Given the description of an element on the screen output the (x, y) to click on. 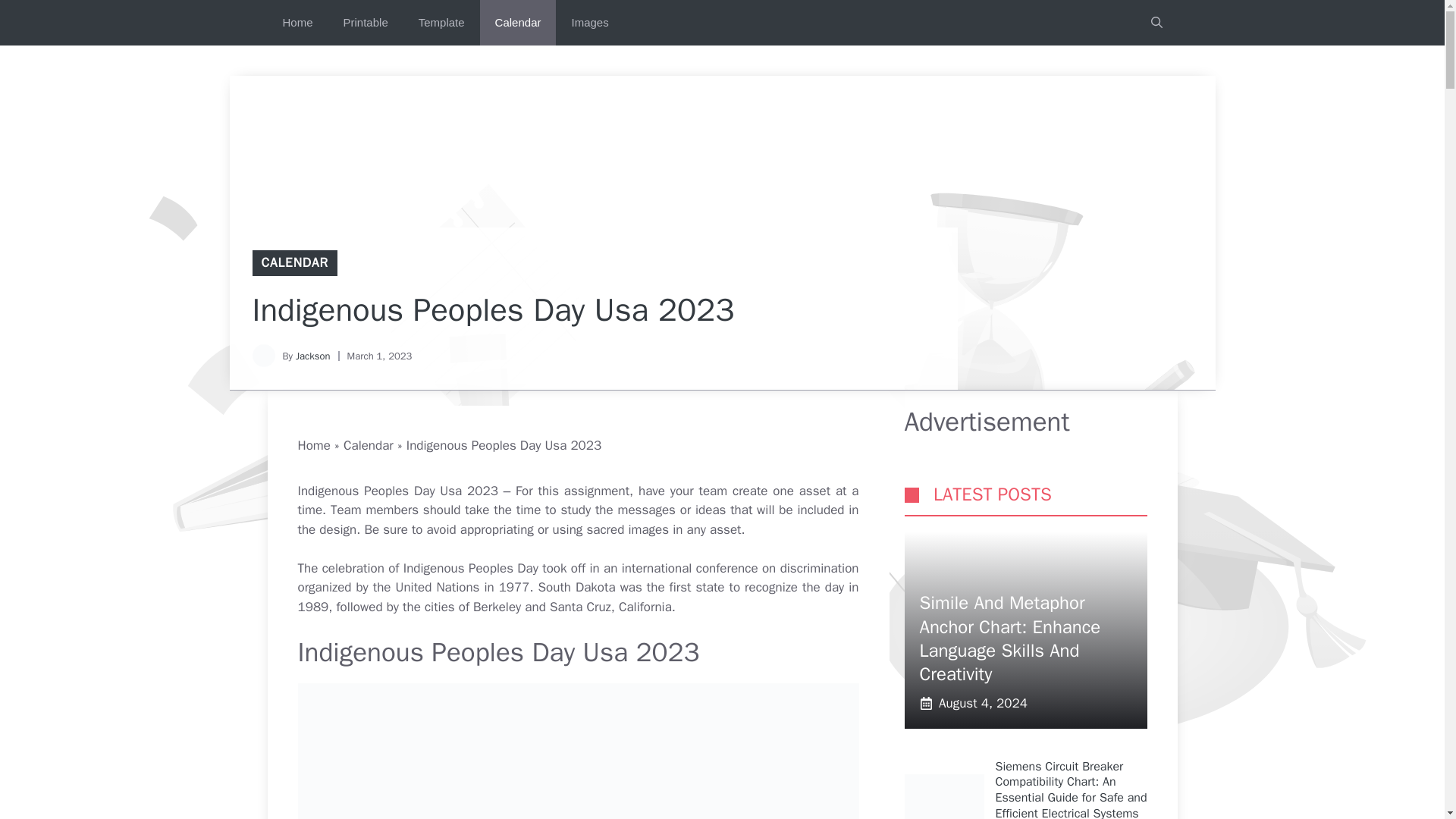
Calendar (518, 22)
Indigenous Peoples Day Usa 2023 (578, 751)
Images (589, 22)
CALENDAR (294, 262)
Home (296, 22)
Template (441, 22)
Jackson (312, 355)
Printable (366, 22)
SORRY, YOUR BROWSER DOES NOT SUPPORT INLINE SVG. (911, 494)
Calendar (368, 445)
Home (313, 445)
